Given the description of an element on the screen output the (x, y) to click on. 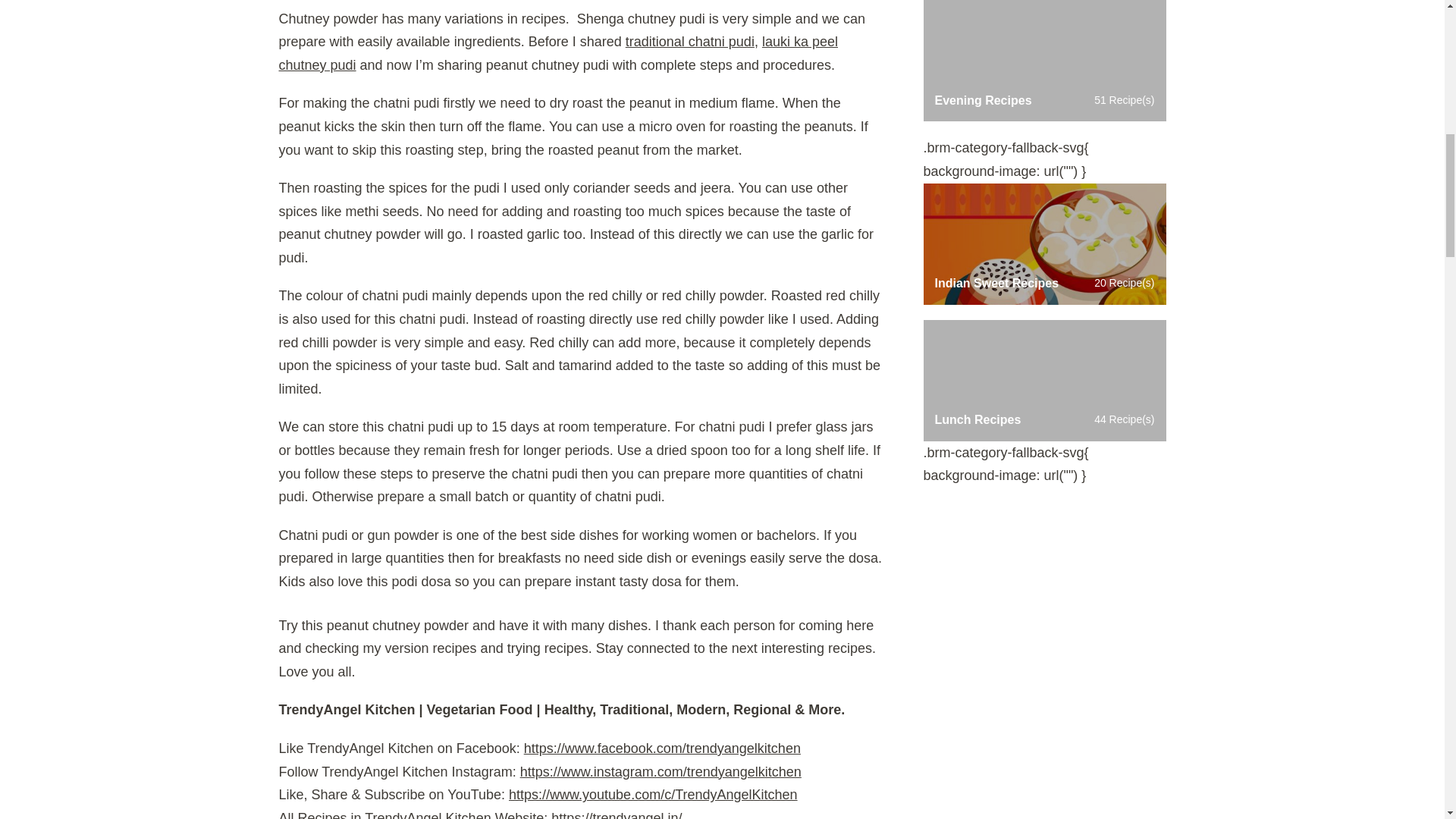
traditional chatni pudi (690, 41)
